Given the description of an element on the screen output the (x, y) to click on. 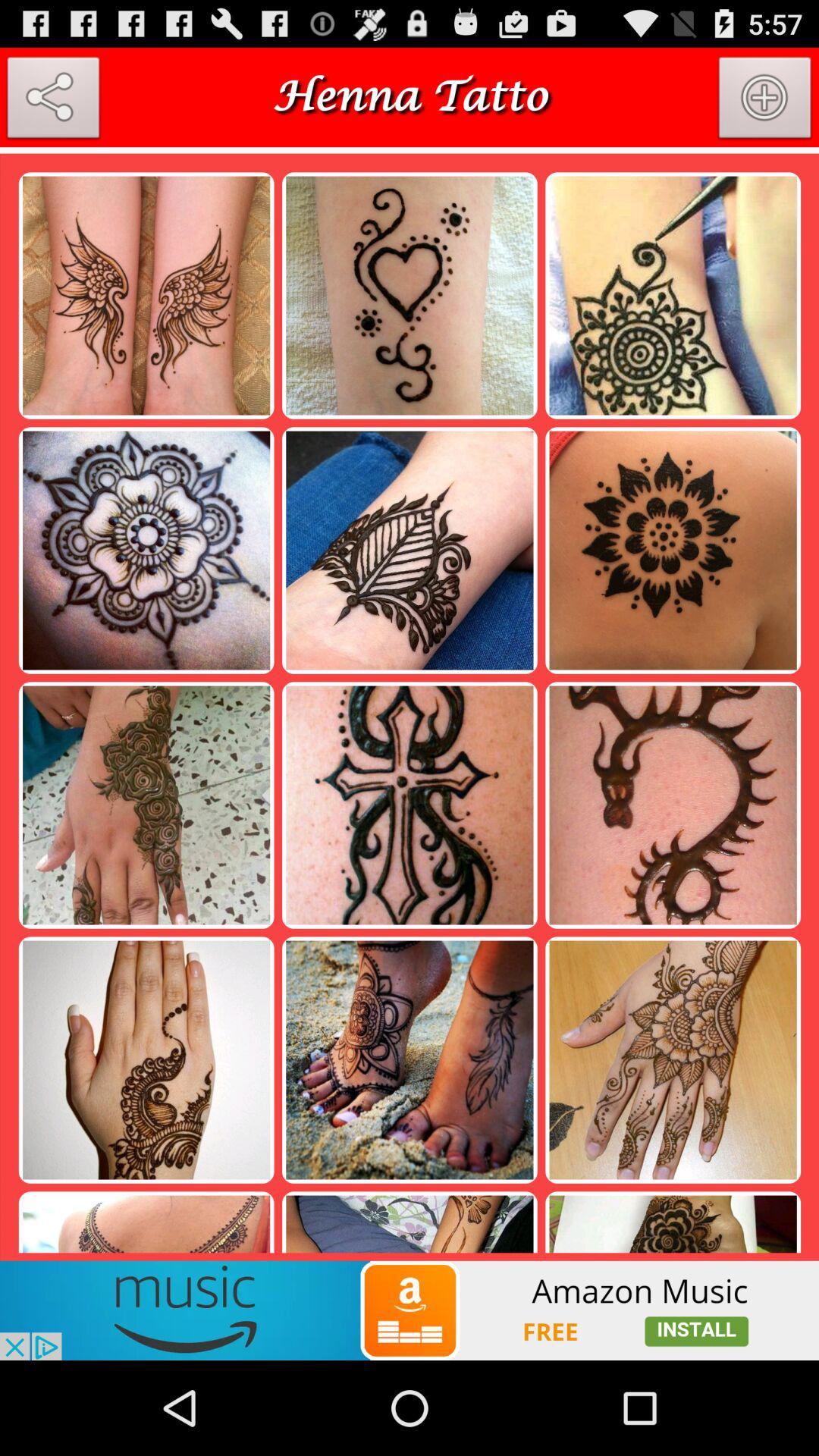
mendi designd tutorial (53, 100)
